Given the description of an element on the screen output the (x, y) to click on. 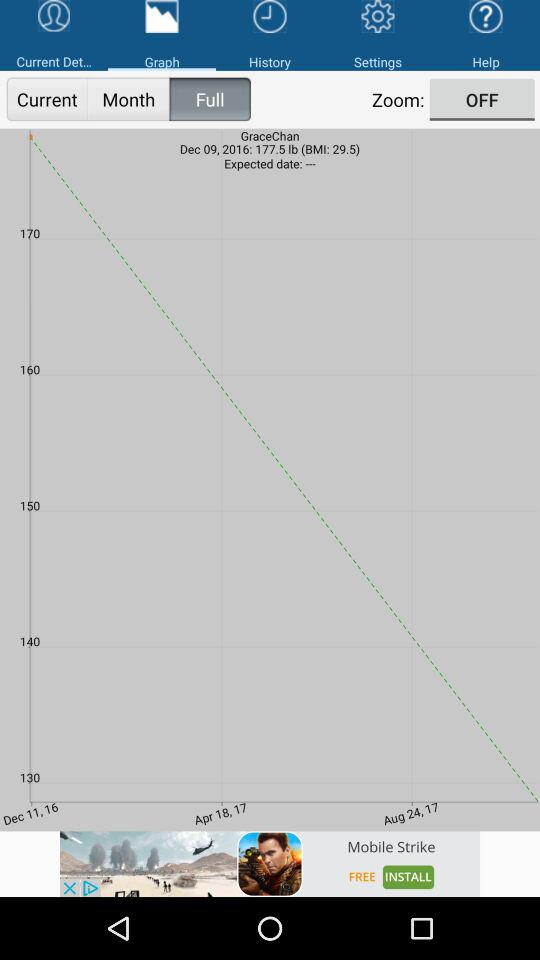
advertisement (270, 864)
